Given the description of an element on the screen output the (x, y) to click on. 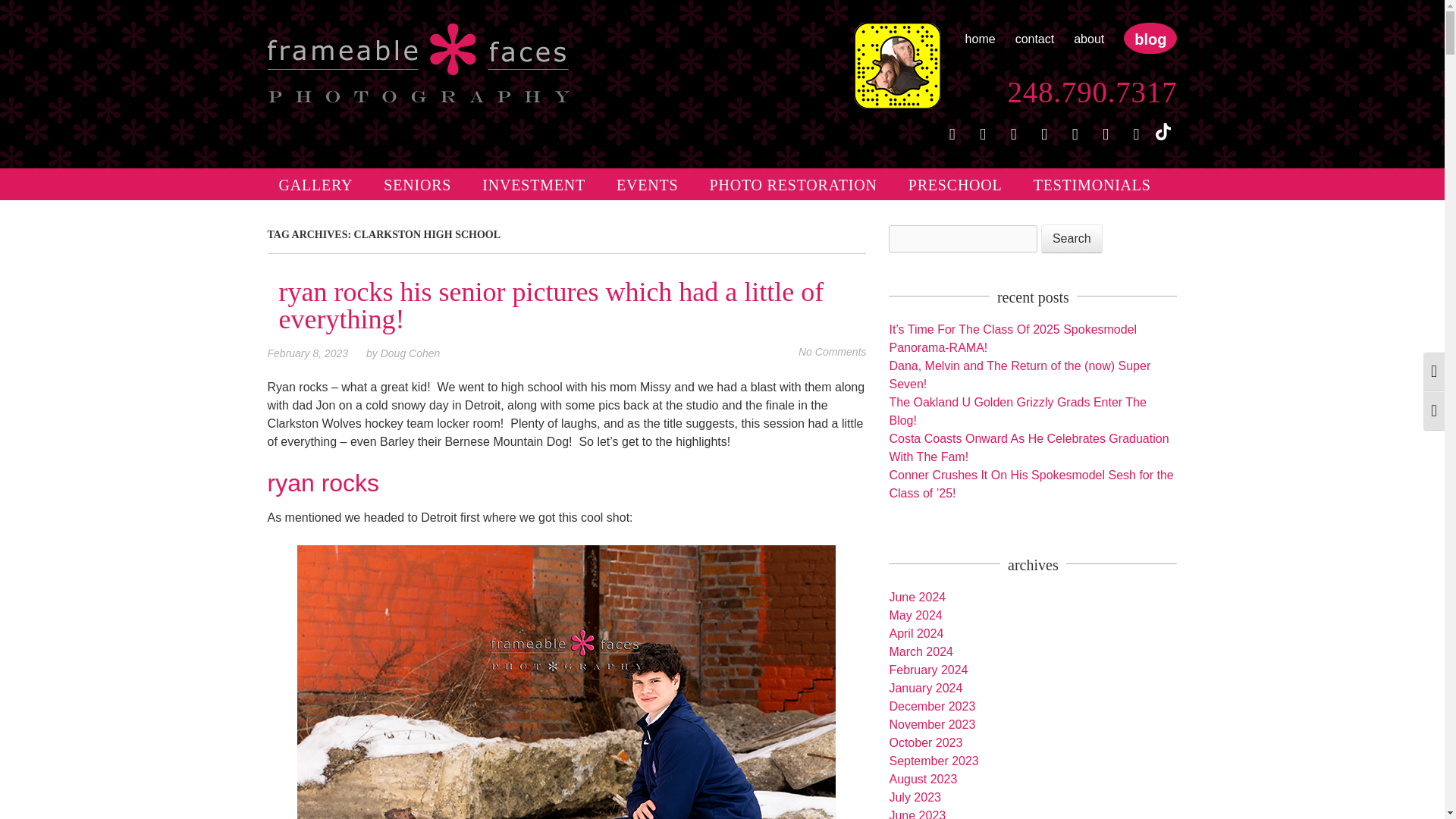
No Comments (831, 351)
home (980, 38)
Doug Cohen (410, 353)
Skip to content (306, 177)
contact (1034, 38)
Search (1071, 238)
blog (1150, 39)
GALLERY (315, 183)
SENIORS (417, 183)
February 8, 2023 (314, 352)
TESTIMONIALS (1091, 183)
EVENTS (646, 183)
INVESTMENT (533, 183)
PRESCHOOL (954, 183)
